Given the description of an element on the screen output the (x, y) to click on. 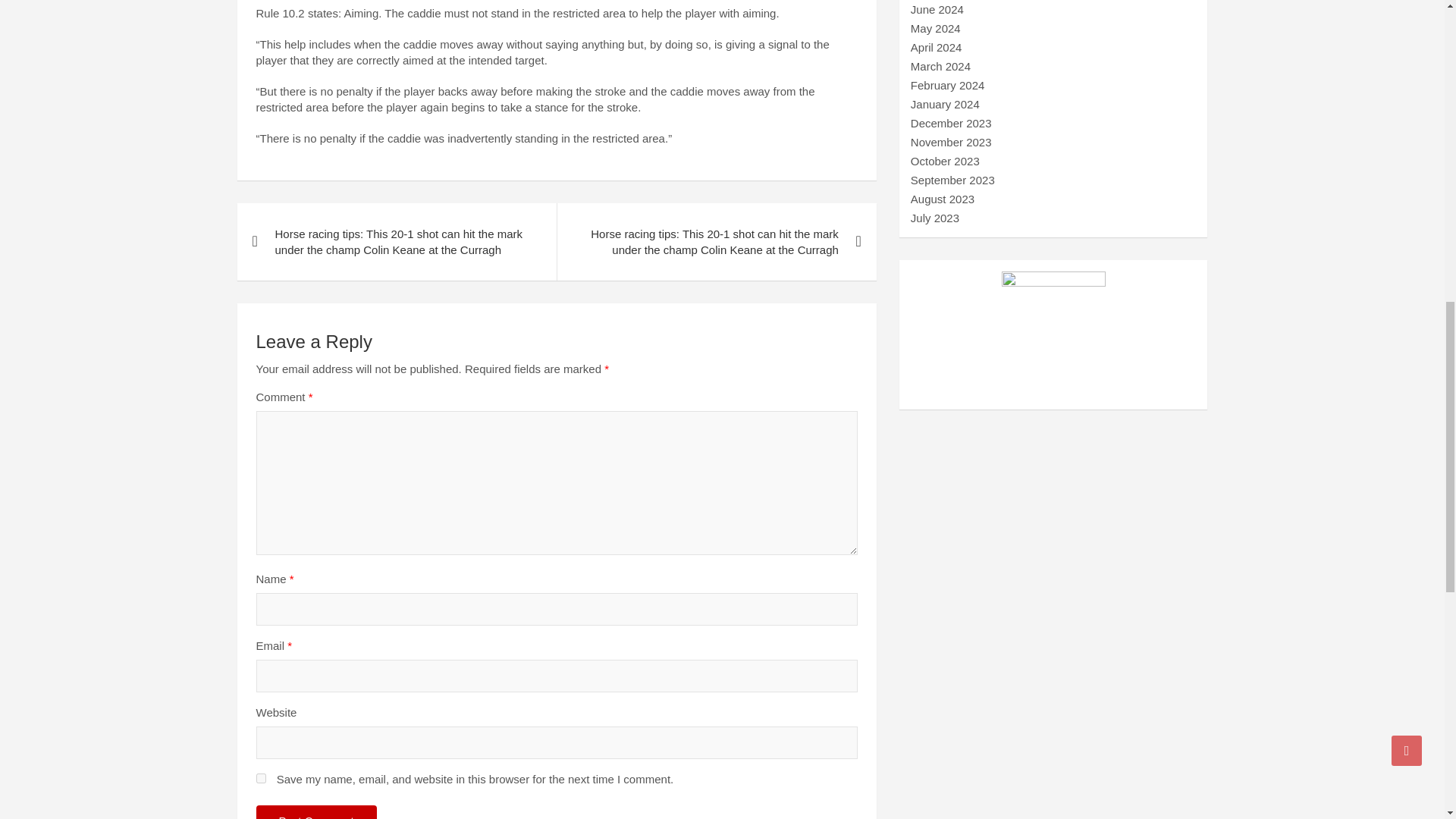
yes (261, 777)
Post Comment (316, 812)
Post Comment (316, 812)
